Given the description of an element on the screen output the (x, y) to click on. 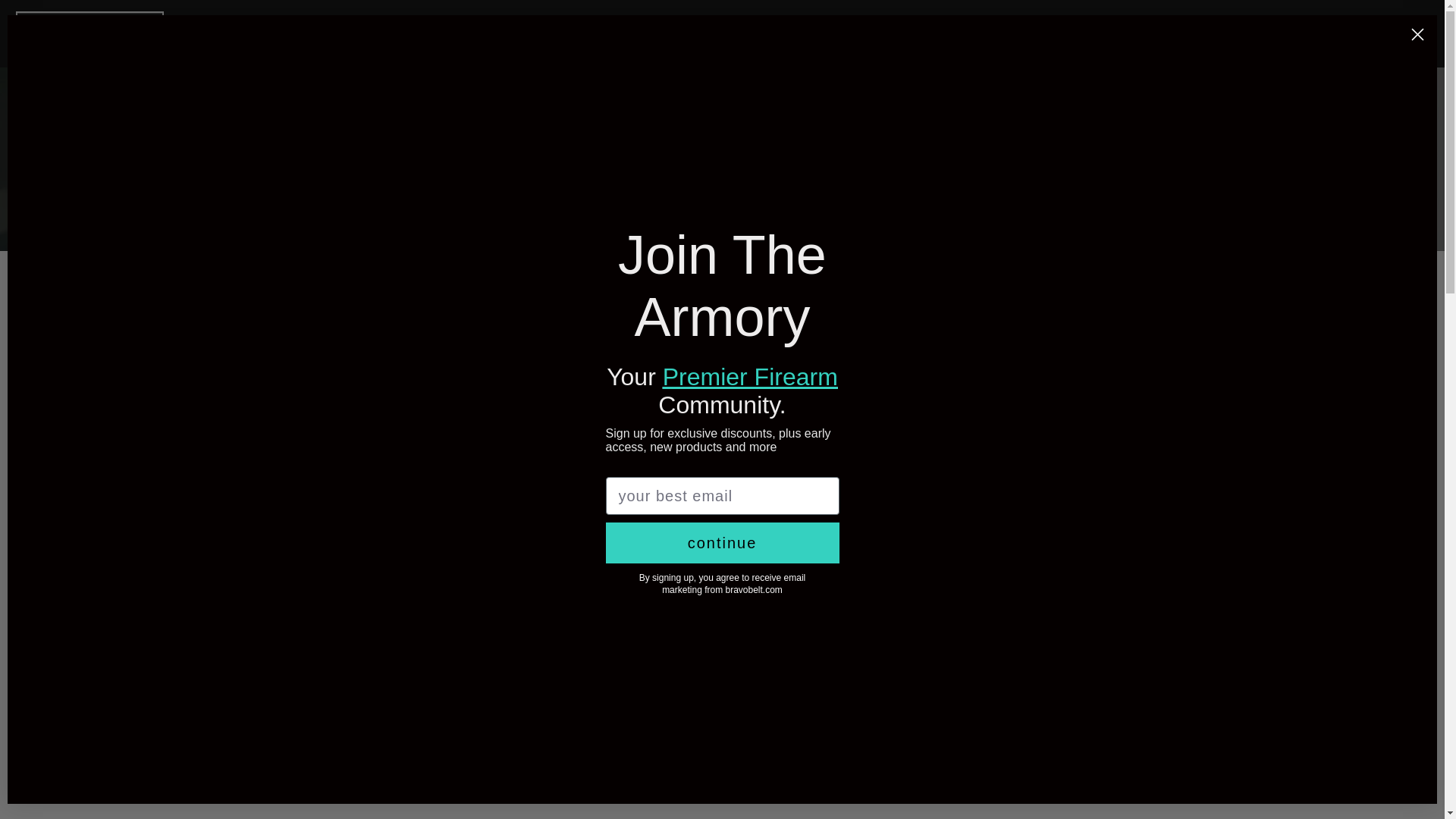
SUPPORT (785, 33)
Home (590, 173)
FIND YOUR SIZE (556, 33)
SHOP (319, 33)
BLOG (714, 33)
OUR COMPANY (234, 33)
BravoBelt (89, 33)
VIDEOS (650, 33)
Close dialog 1 (1418, 34)
BUILD YOUR BUNDLE (422, 33)
